Given the description of an element on the screen output the (x, y) to click on. 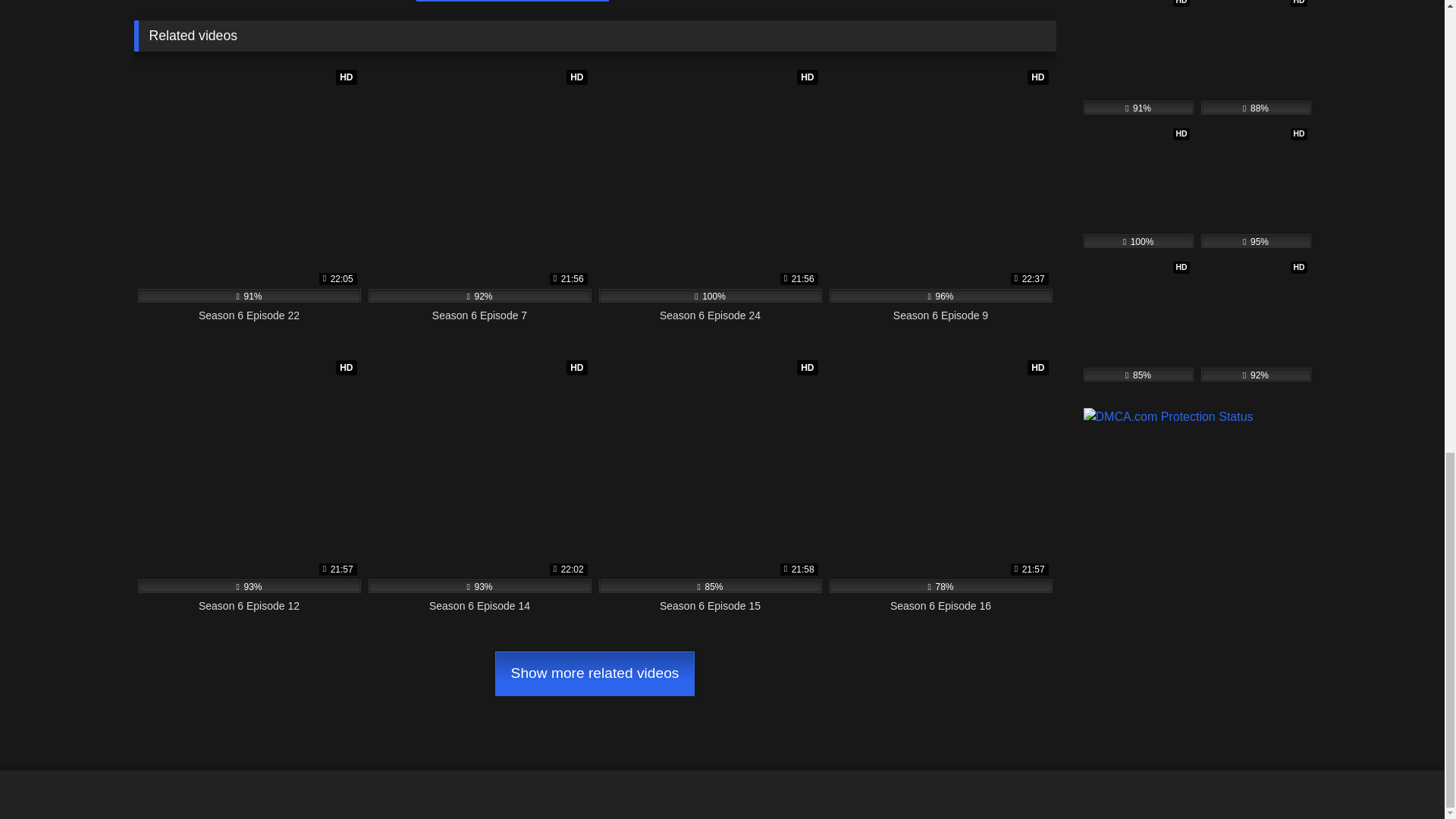
Season 2 Episode 2 (1256, 57)
Season 6 Episode 22 (1137, 57)
Season 1 Episode 20 (1256, 319)
DMCA.com Protection Status (1167, 416)
Season 3 Episode 4 (1137, 186)
Season 4 Episode 3 (1256, 186)
Season 5 Episode 7 (1137, 319)
Show more related videos (594, 673)
